Given the description of an element on the screen output the (x, y) to click on. 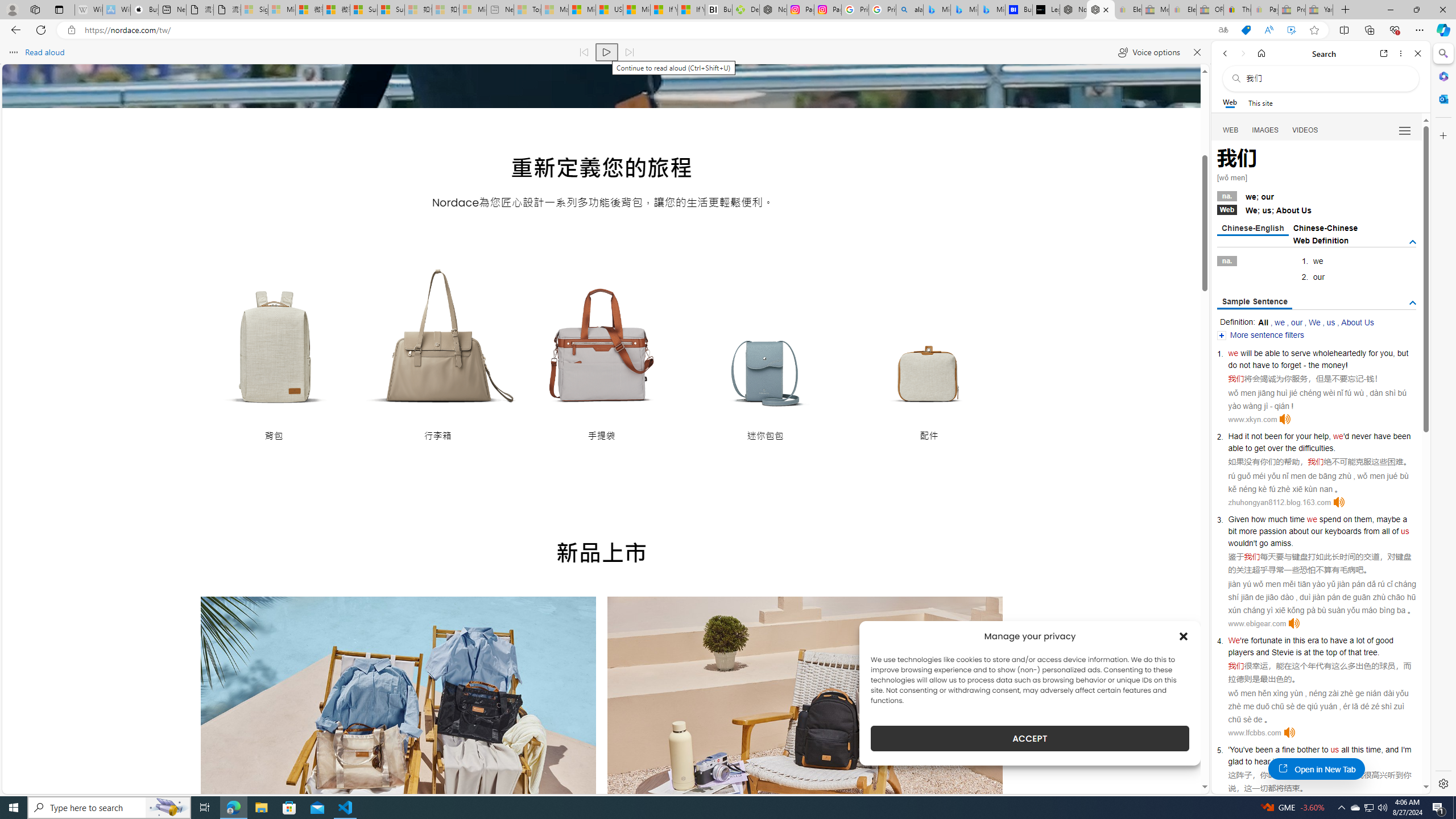
I (1401, 749)
wholeheartedly (1340, 352)
' (1228, 749)
bother (1308, 749)
Marine life - MSN - Sleeping (554, 9)
